Given the description of an element on the screen output the (x, y) to click on. 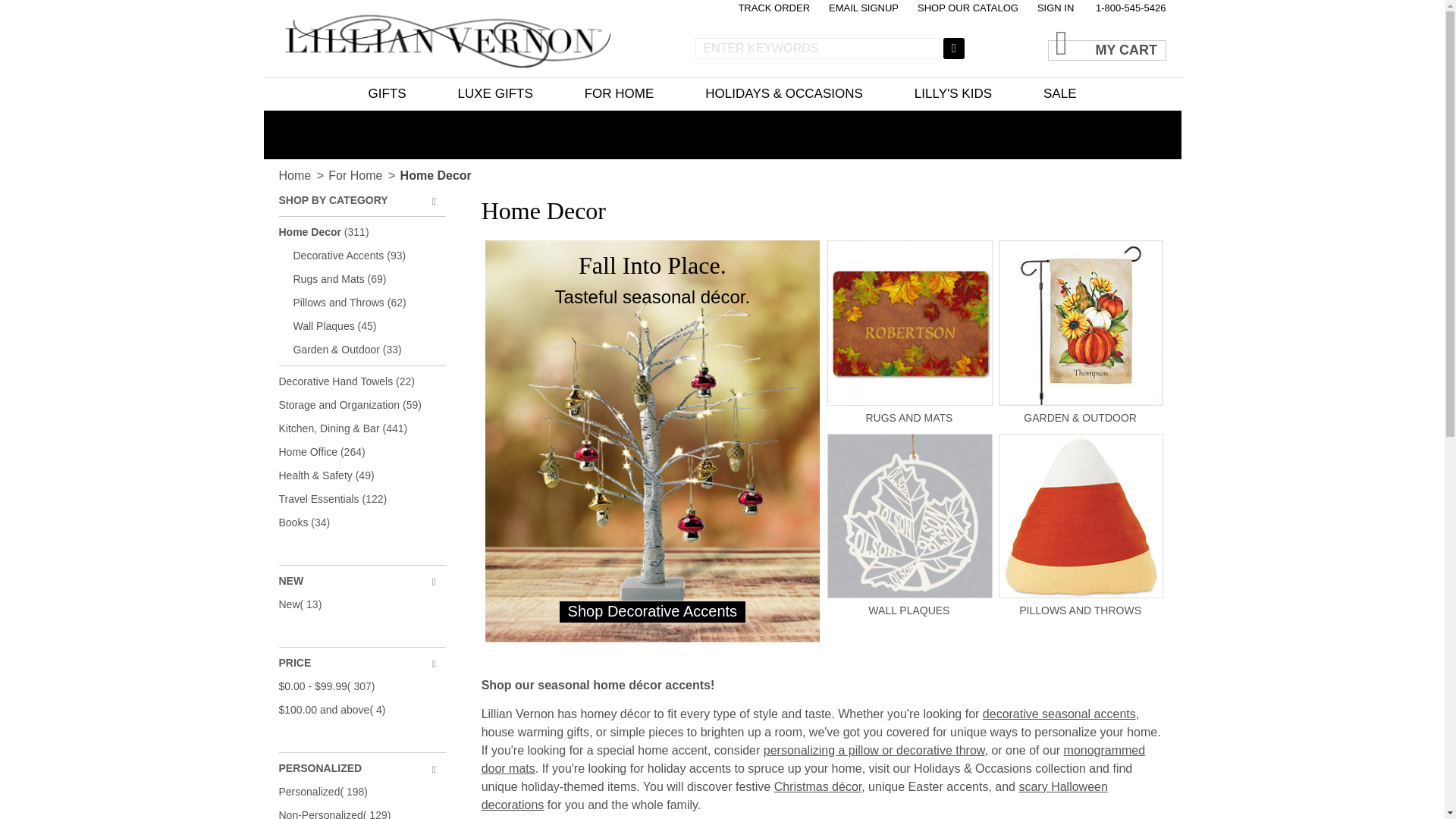
GIFTS (386, 93)
Wall Plaques (909, 603)
SEARCH (953, 47)
Search (953, 47)
MY CART (1107, 43)
TRACK ORDER (773, 8)
SIGN IN (1055, 8)
SHOP OUR CATALOG (967, 8)
EMAIL SIGNUP (863, 8)
Rugs and Mats (909, 410)
